Given the description of an element on the screen output the (x, y) to click on. 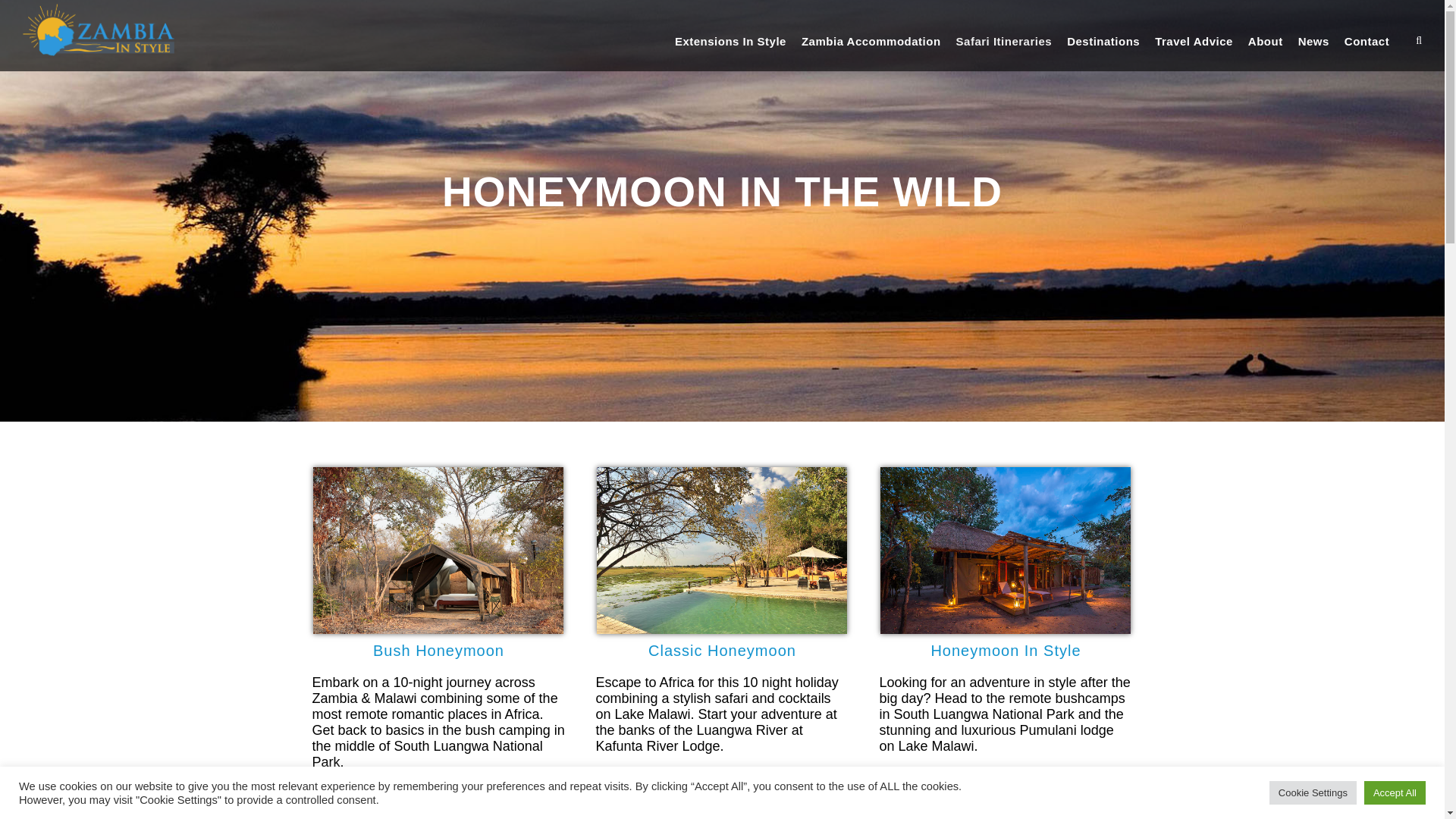
Extensions In Style (730, 51)
